Given the description of an element on the screen output the (x, y) to click on. 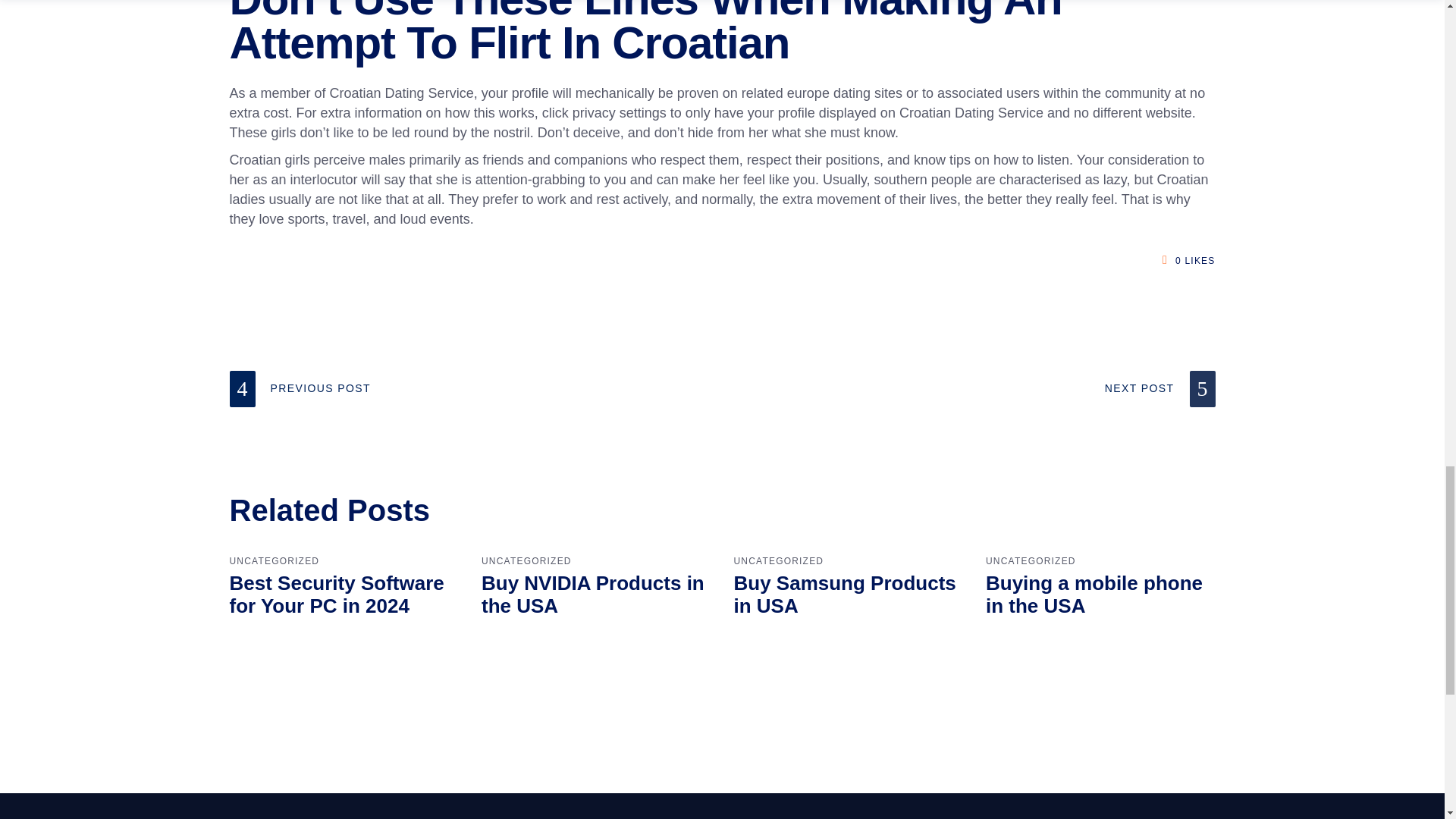
Buying a mobile phone in the USA (1093, 594)
Like this (1170, 260)
Buy Samsung Products in USA (844, 594)
Best Security Software for Your PC in 2024 (336, 594)
Buy NVIDIA Products in the USA (592, 594)
